Given the description of an element on the screen output the (x, y) to click on. 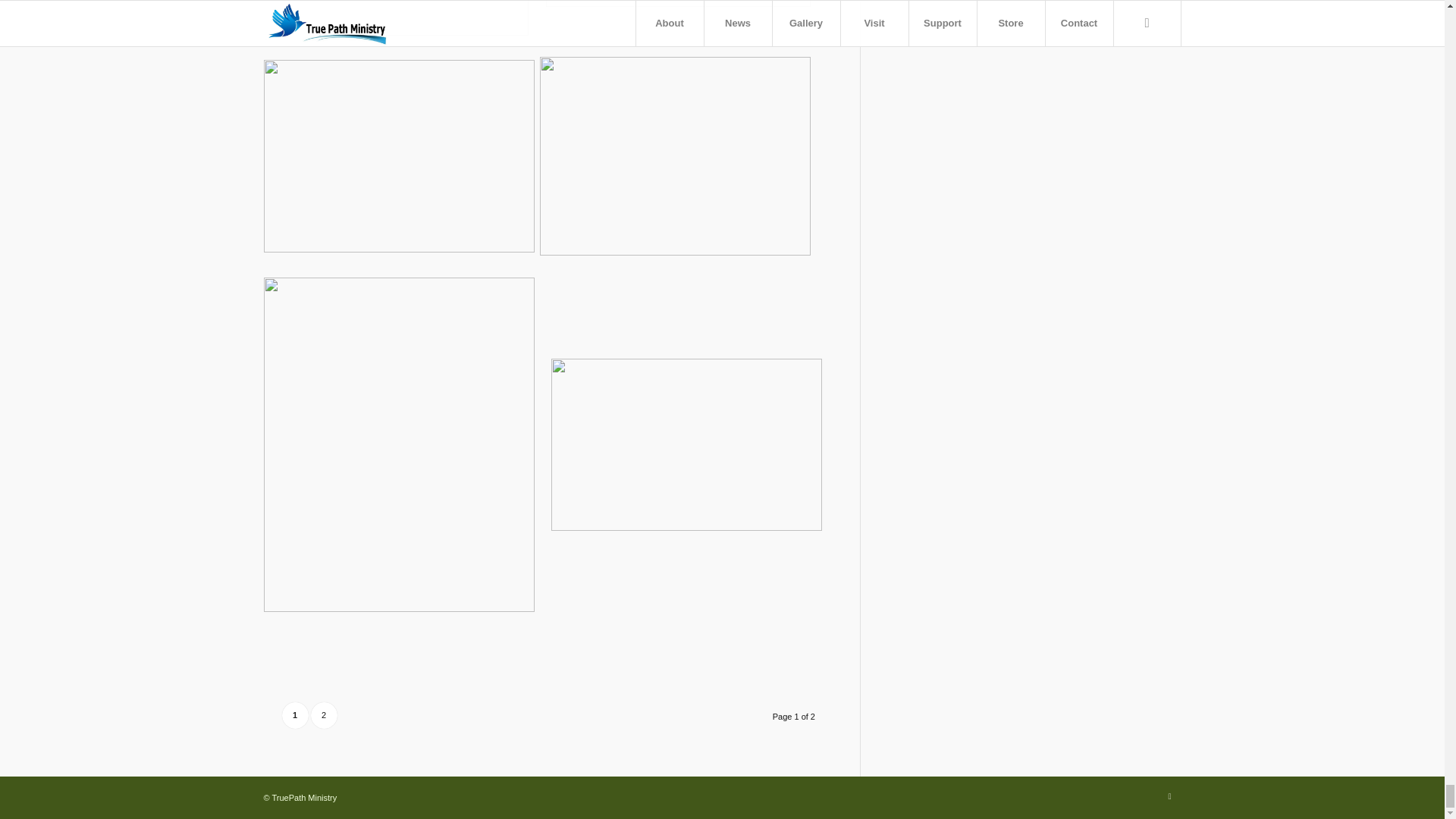
Facebook (1169, 795)
2 (324, 714)
